Given the description of an element on the screen output the (x, y) to click on. 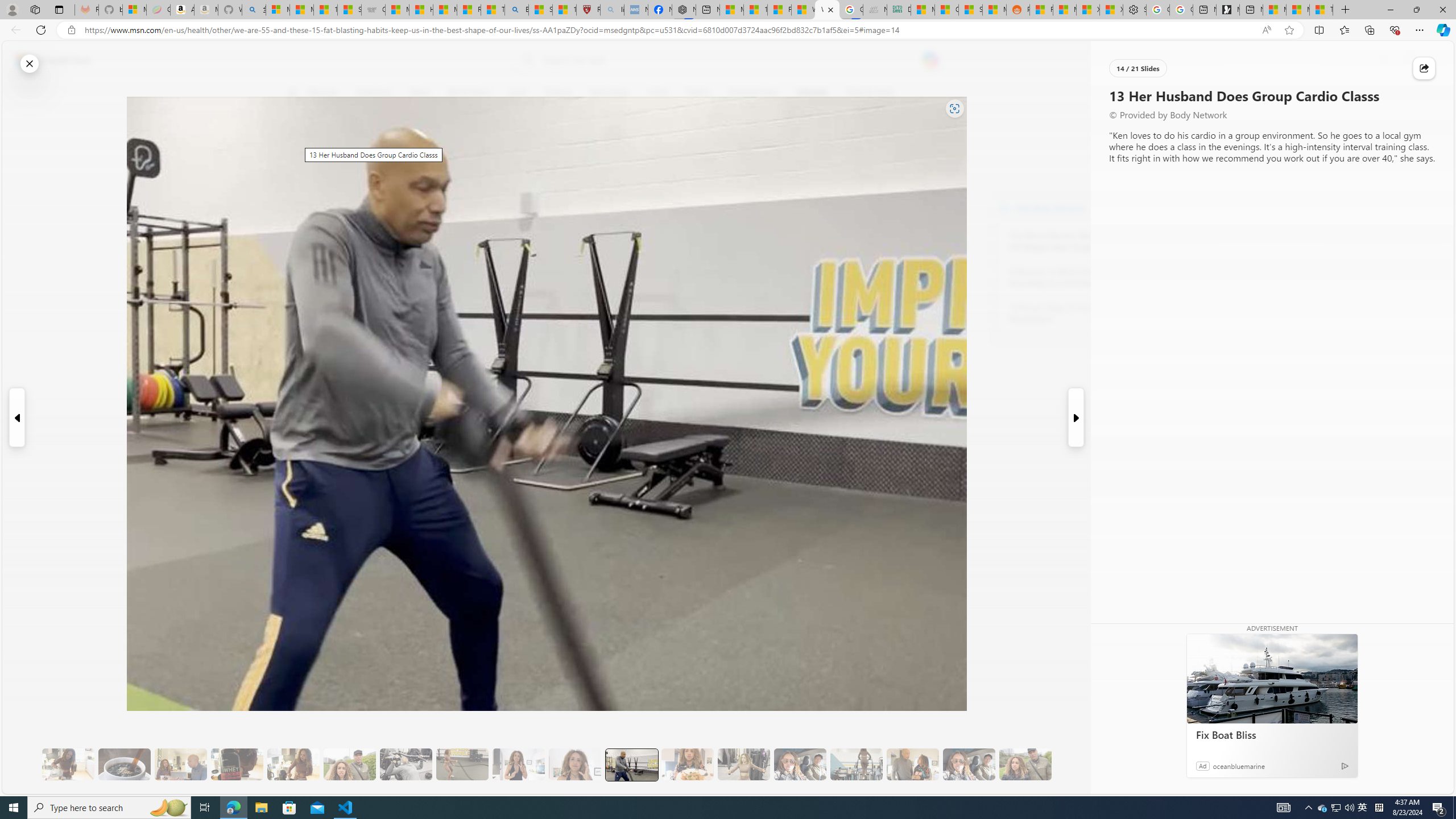
These 3 Stocks Pay You More Than 5% to Own Them (1321, 9)
5 She Eats Less Than Her Husband (180, 764)
10 Then, They Do HIIT Cardio (462, 764)
Body Network (449, 147)
Body Network (1004, 207)
Fitness - MSN (779, 9)
